Given the description of an element on the screen output the (x, y) to click on. 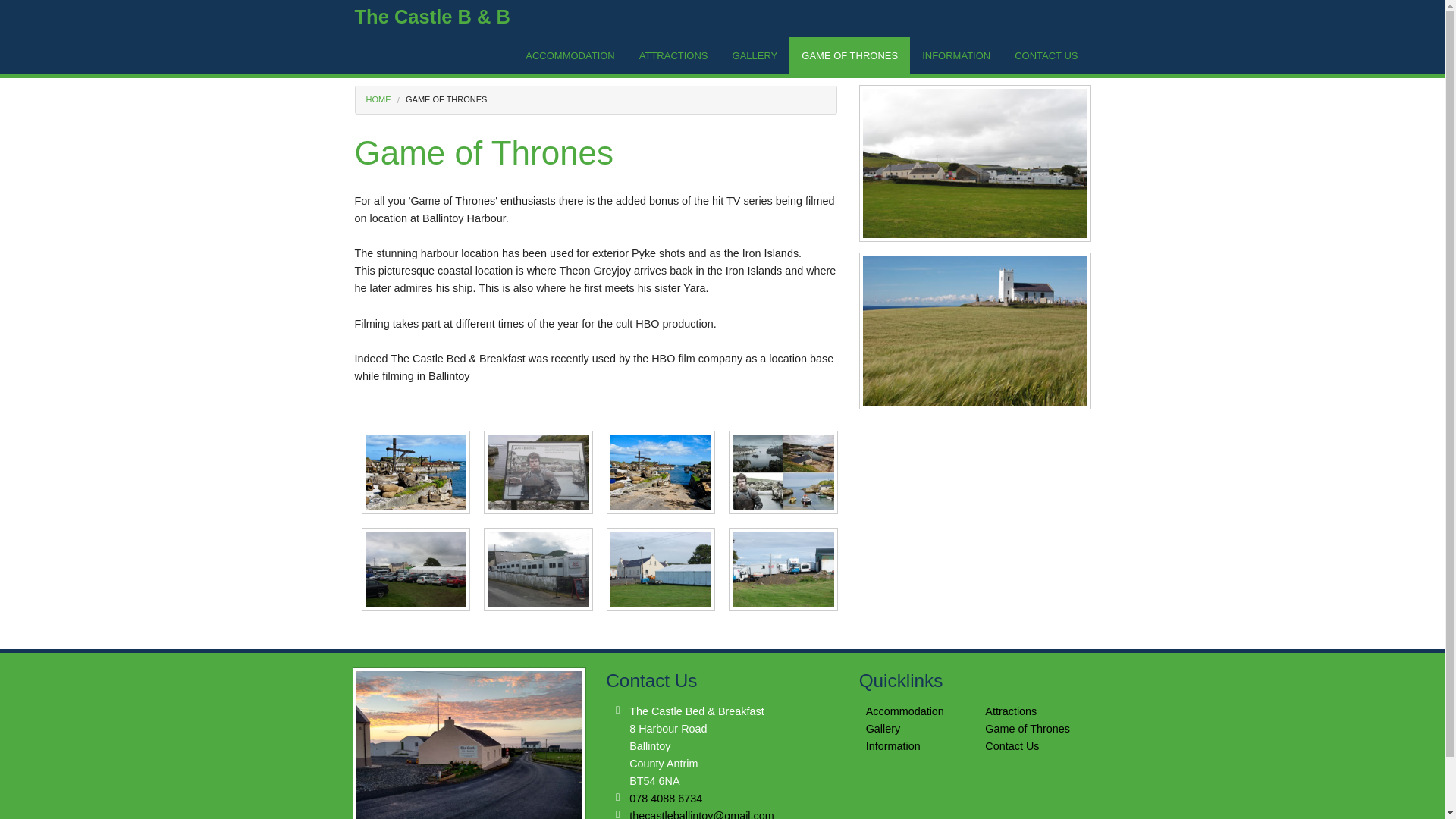
GAME OF THRONES (849, 55)
078 4088 6734 (664, 798)
Information (893, 746)
HOME (377, 99)
CONTACT US (1046, 55)
INFORMATION (956, 55)
Accommodation (904, 711)
ATTRACTIONS (673, 55)
ACCOMMODATION (569, 55)
GALLERY (755, 55)
Gallery (883, 728)
Home (377, 99)
Contact Us (1012, 746)
Game of Thrones (1027, 728)
Attractions (1010, 711)
